Given the description of an element on the screen output the (x, y) to click on. 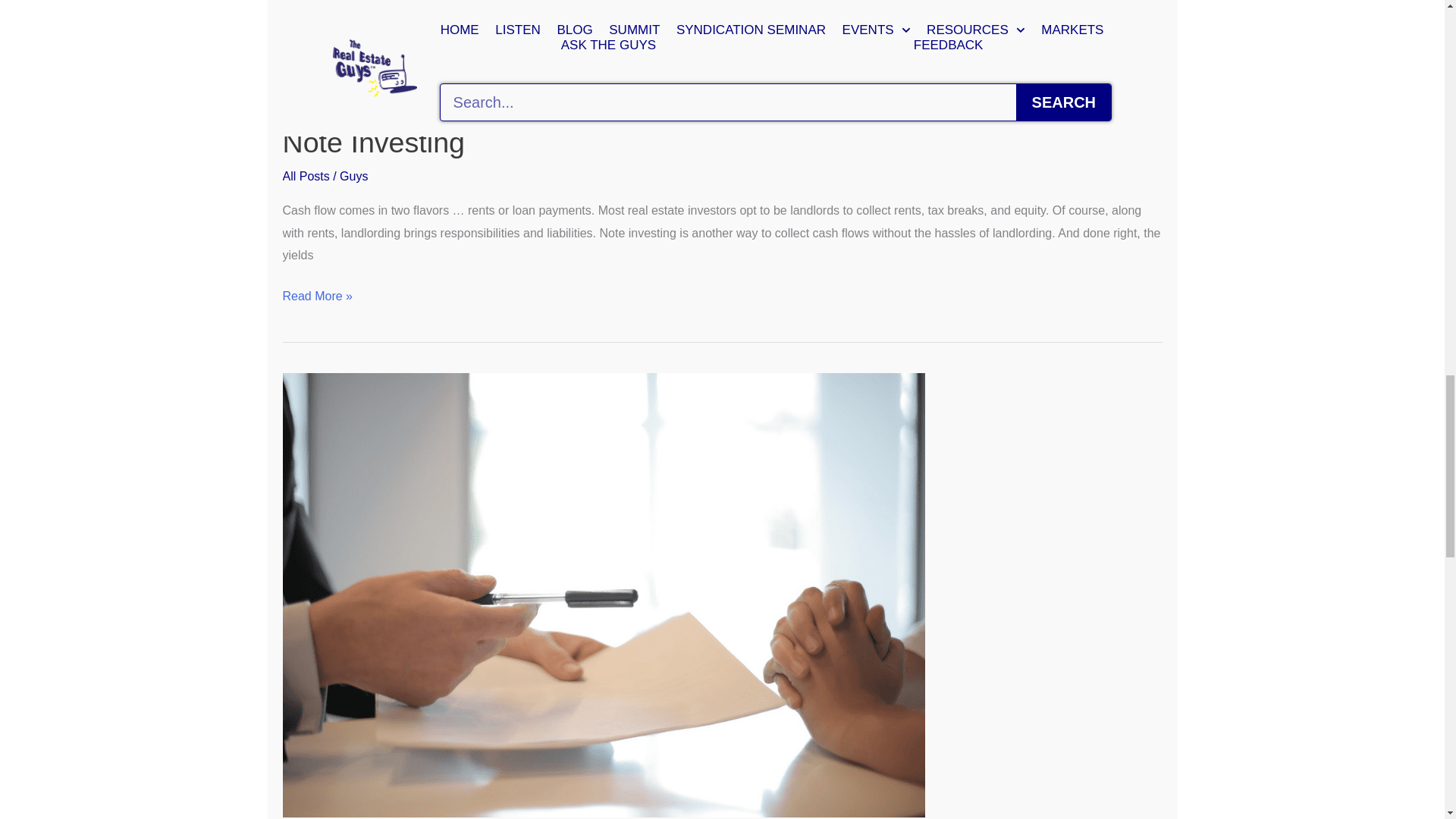
View all posts by Guys (353, 175)
